Given the description of an element on the screen output the (x, y) to click on. 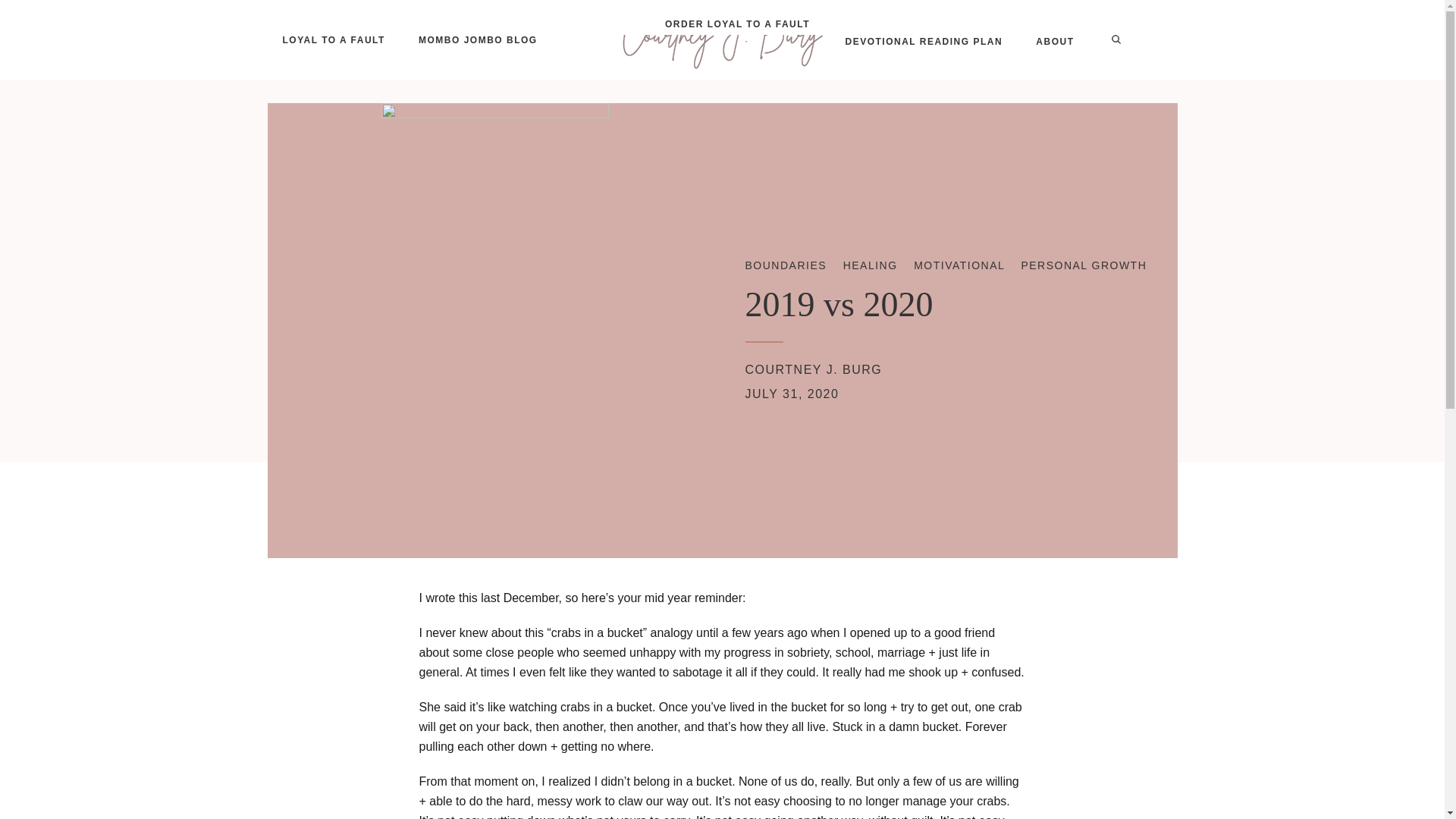
DEVOTIONAL READING PLAN (923, 41)
LOYAL TO A FAULT (332, 39)
MOMBO JOMBO BLOG (478, 39)
BOUNDARIES (785, 265)
HEALING (870, 265)
PERSONAL GROWTH (1083, 265)
COURTNEY J. BURG (813, 369)
MOTIVATIONAL (959, 265)
ABOUT (1054, 41)
ORDER LOYAL TO A FAULT (737, 24)
